Given the description of an element on the screen output the (x, y) to click on. 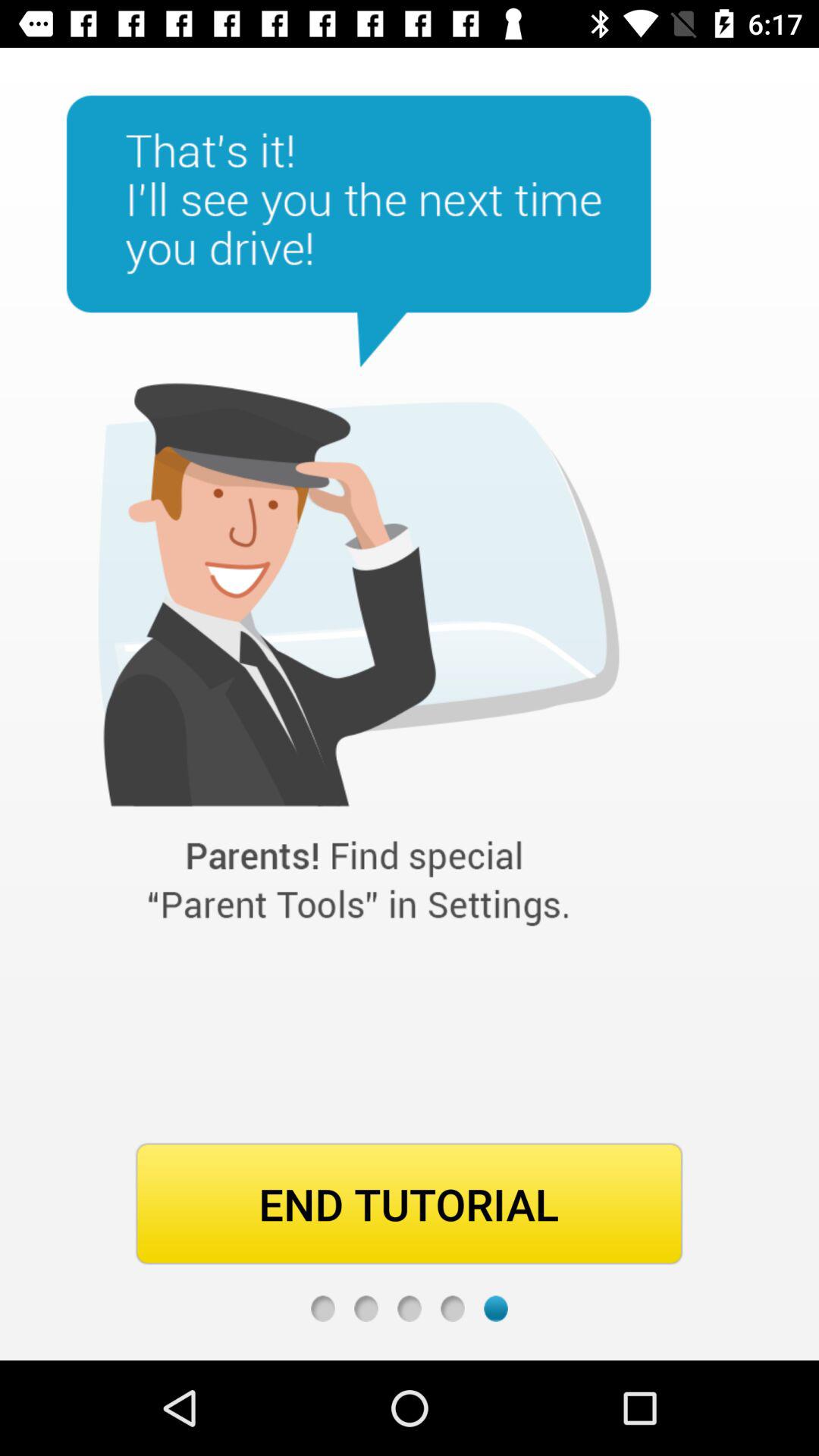
goes back two options (409, 1308)
